Given the description of an element on the screen output the (x, y) to click on. 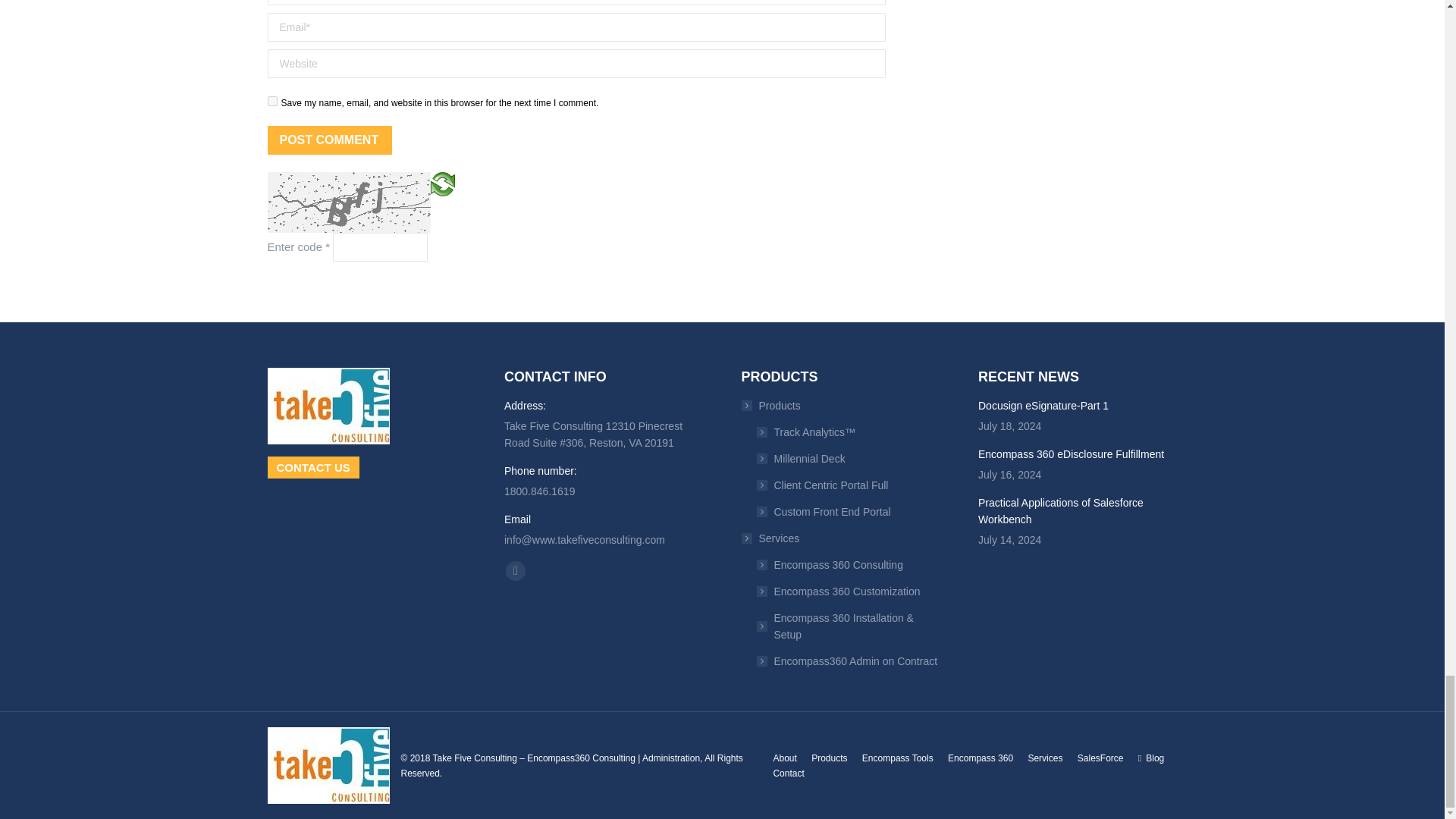
yes (271, 101)
Refresh Image (442, 182)
Linkedin page opens in new window (515, 570)
